Given the description of an element on the screen output the (x, y) to click on. 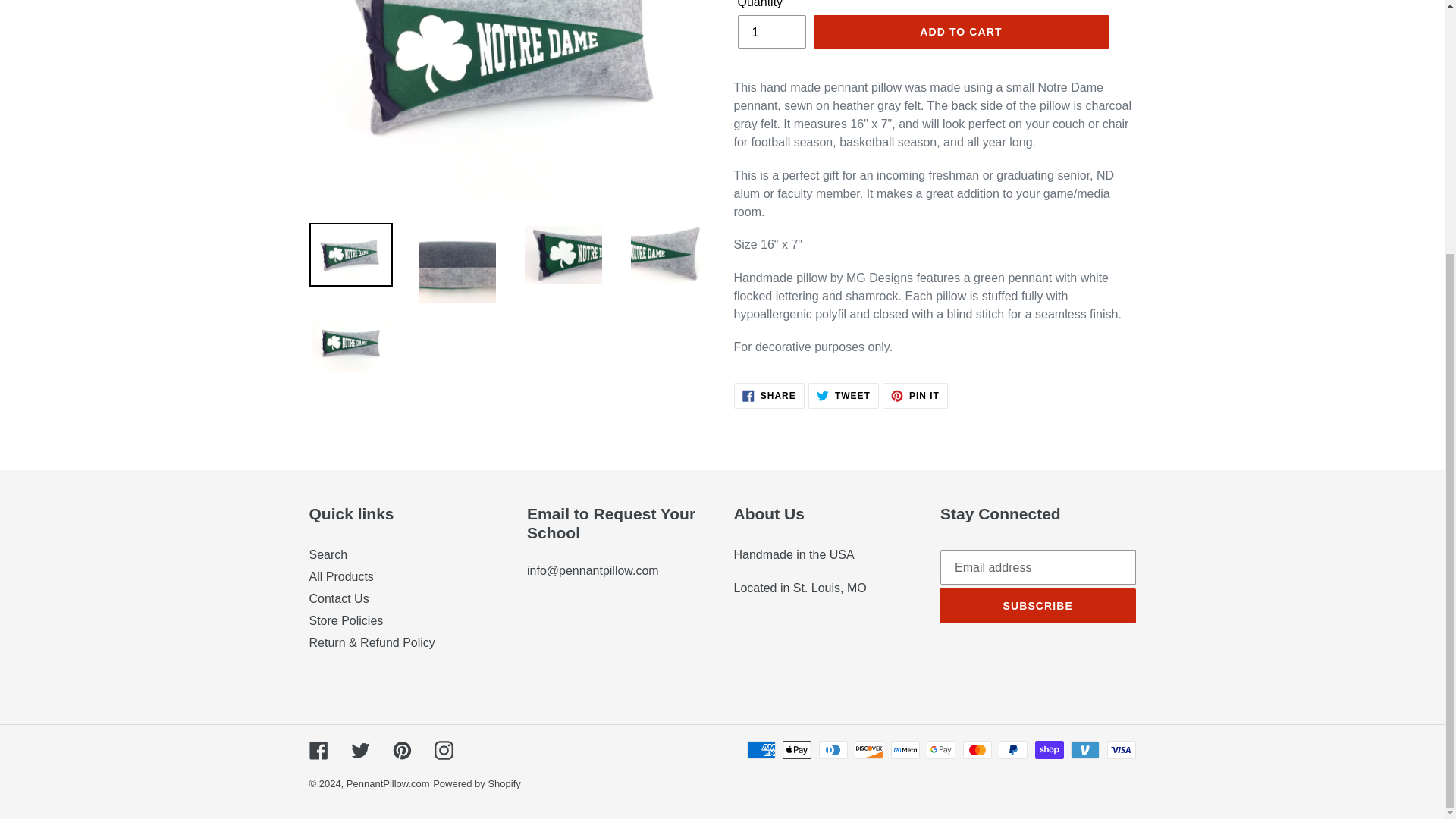
Store Policies (346, 620)
Pinterest (914, 395)
Search (402, 749)
1 (327, 554)
Powered by Shopify (770, 31)
Contact Us (476, 783)
Facebook (338, 598)
PennantPillow.com (769, 395)
All Products (318, 749)
ADD TO CART (387, 783)
Twitter (341, 576)
Instagram (960, 31)
